Given the description of an element on the screen output the (x, y) to click on. 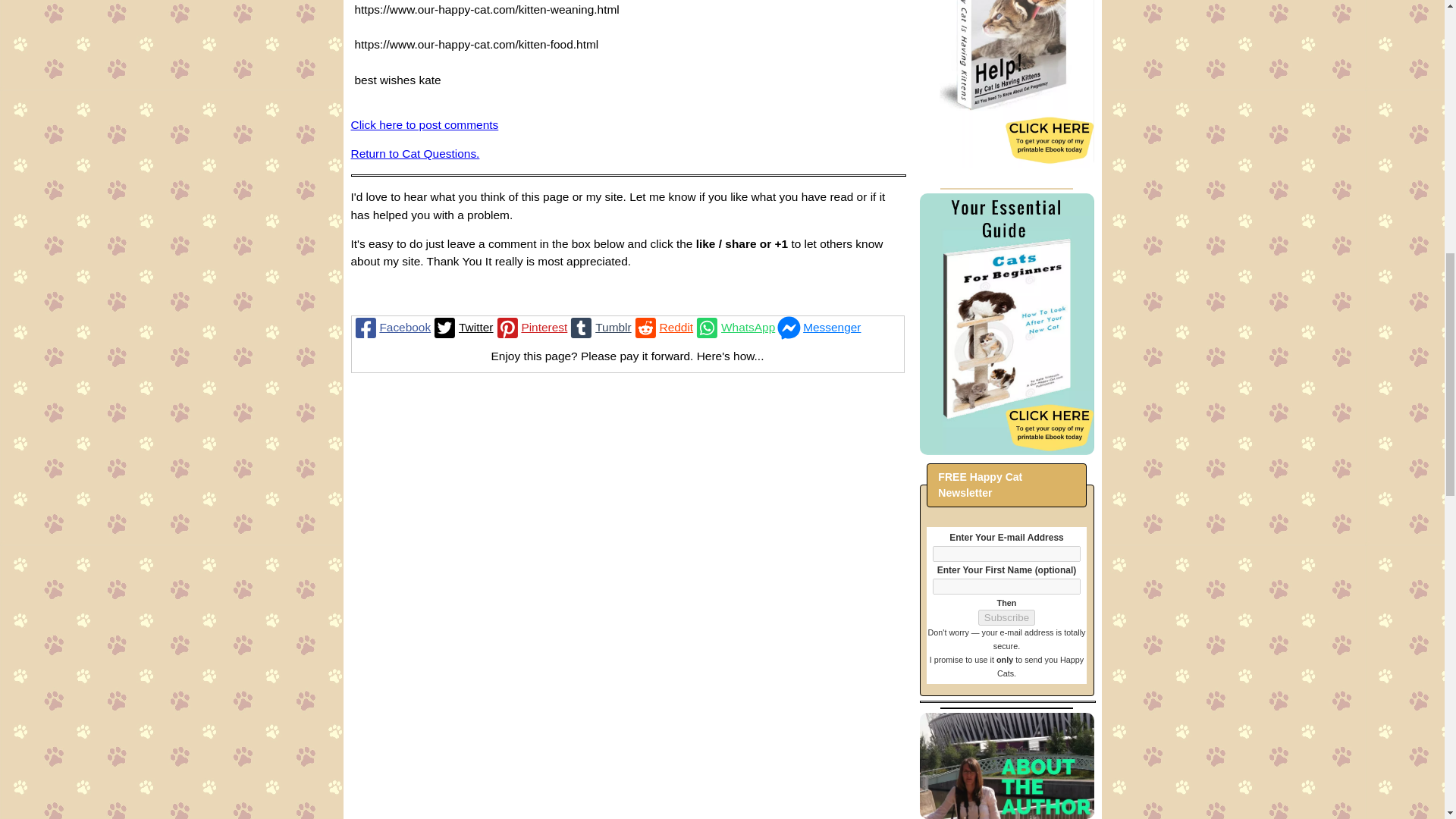
Go to About Me and Our Happy Cat Site (1005, 814)
Go to My Cat Is Having Kittens - A Helpful Ebook (1005, 163)
Go to Cats For Beginners Ebook (1005, 451)
Subscribe (1006, 617)
